Given the description of an element on the screen output the (x, y) to click on. 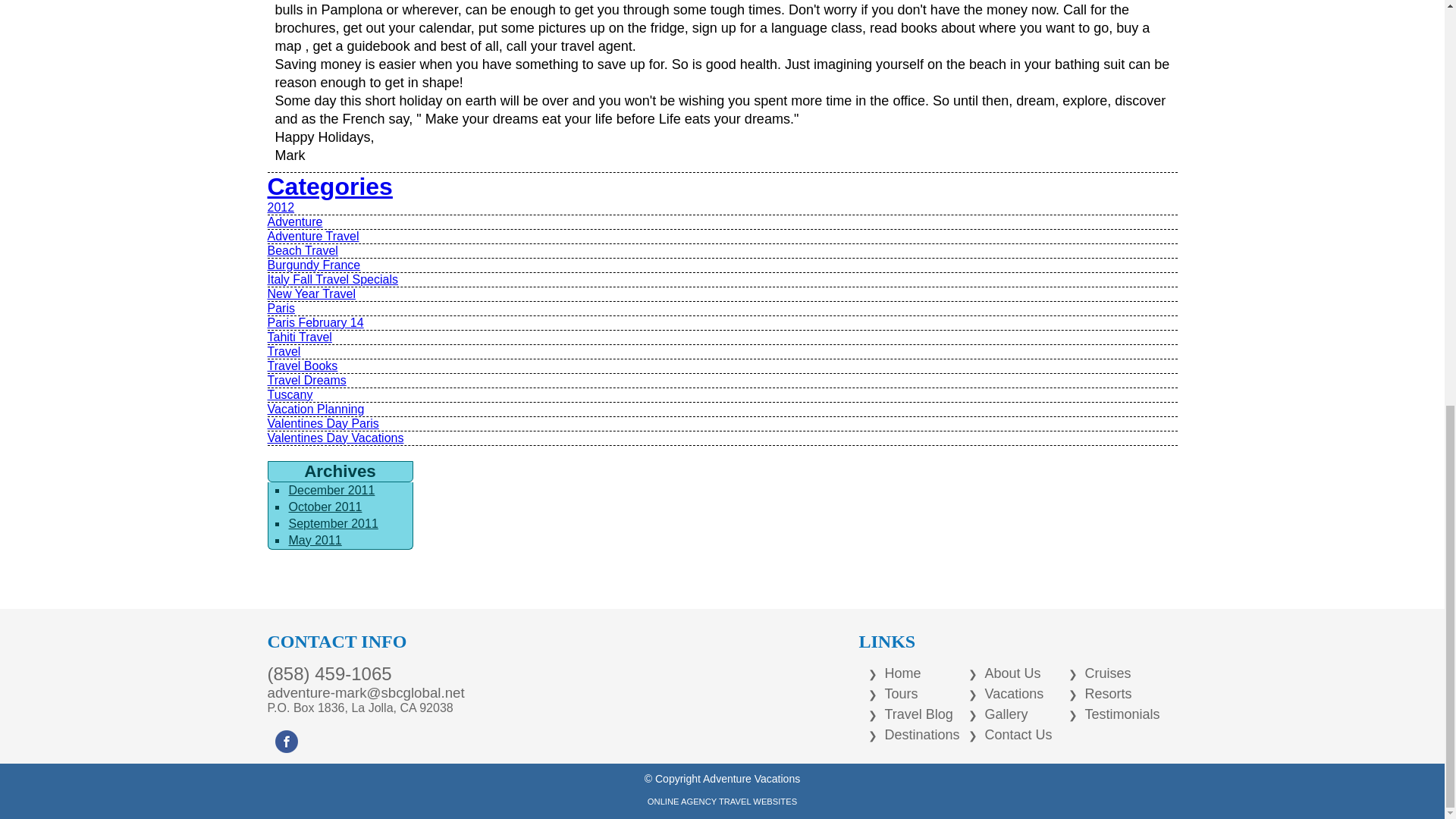
Adventure Travel (312, 236)
Categories (328, 185)
2012 (280, 206)
Adventure (293, 221)
